Given the description of an element on the screen output the (x, y) to click on. 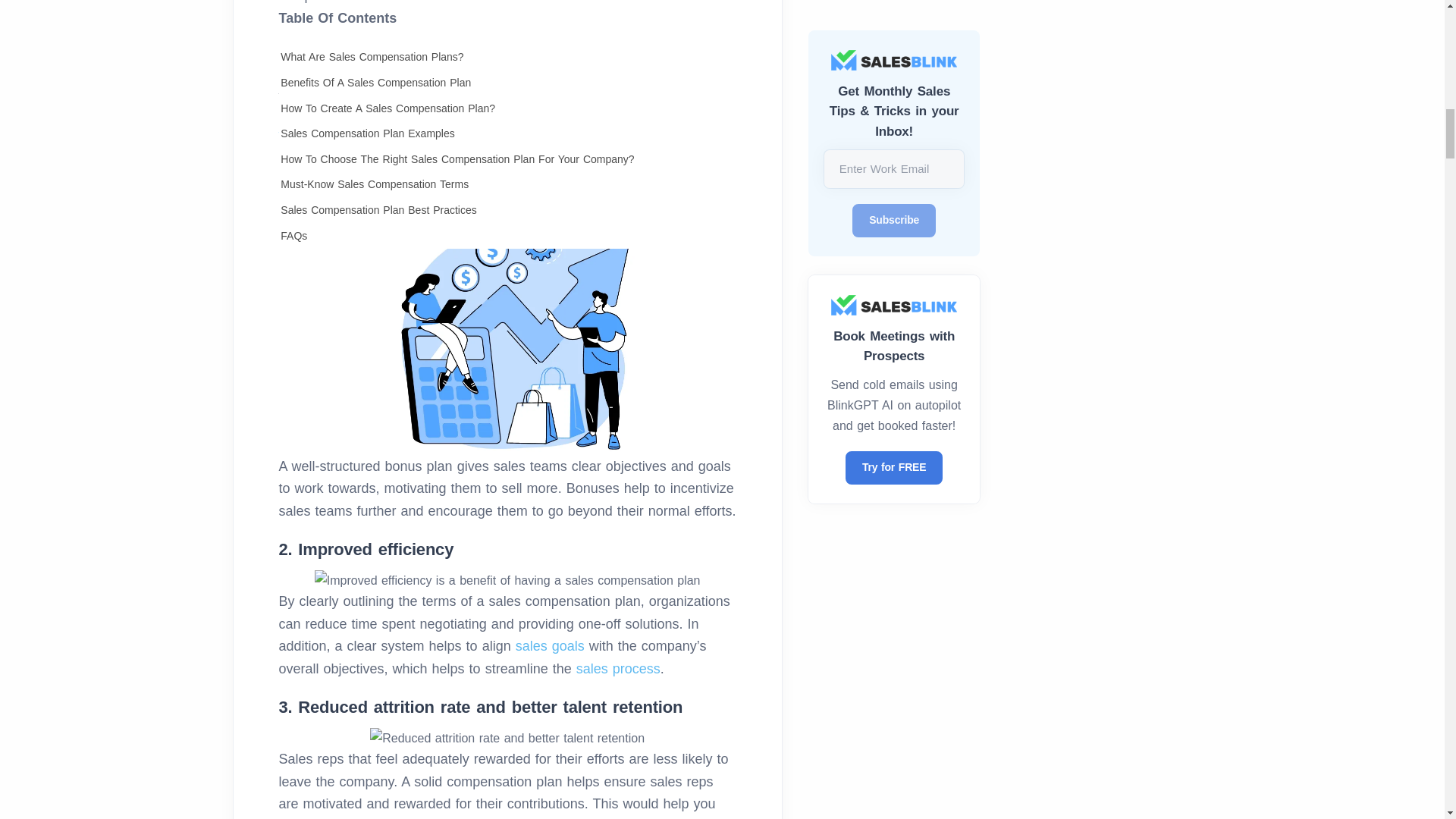
Reduced attrition rate and better talent retention (507, 738)
sales performance (459, 134)
 Improved efficiency (507, 580)
motivate sales teams (496, 123)
sales goals (550, 645)
Increased sales (507, 335)
